Given the description of an element on the screen output the (x, y) to click on. 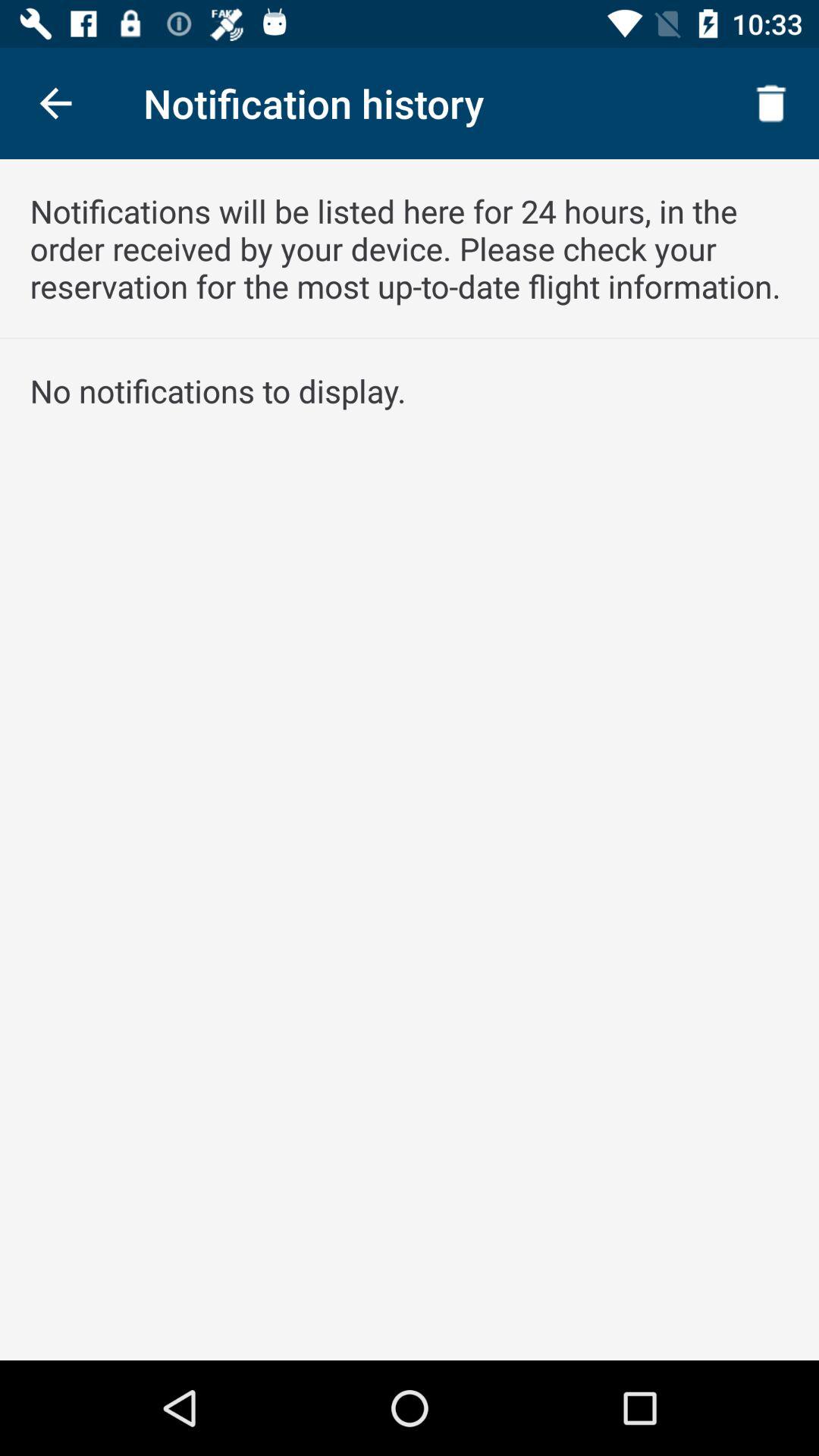
launch the icon above notifications will be (55, 103)
